Given the description of an element on the screen output the (x, y) to click on. 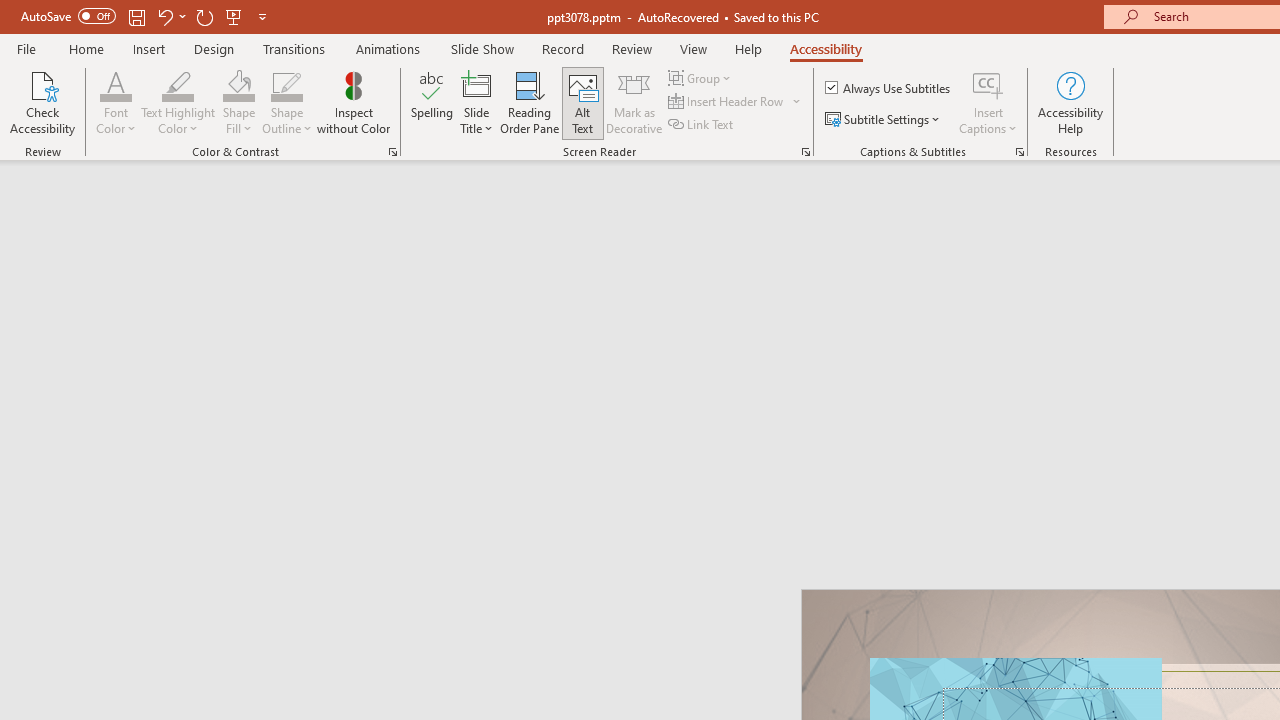
Shape Outline (286, 84)
Text Highlight Color (178, 102)
Group (701, 78)
Always Use Subtitles (889, 87)
Font Color (116, 102)
Captions & Subtitles (1019, 151)
Text Highlight Color (178, 84)
Reading Order Pane (529, 102)
